Given the description of an element on the screen output the (x, y) to click on. 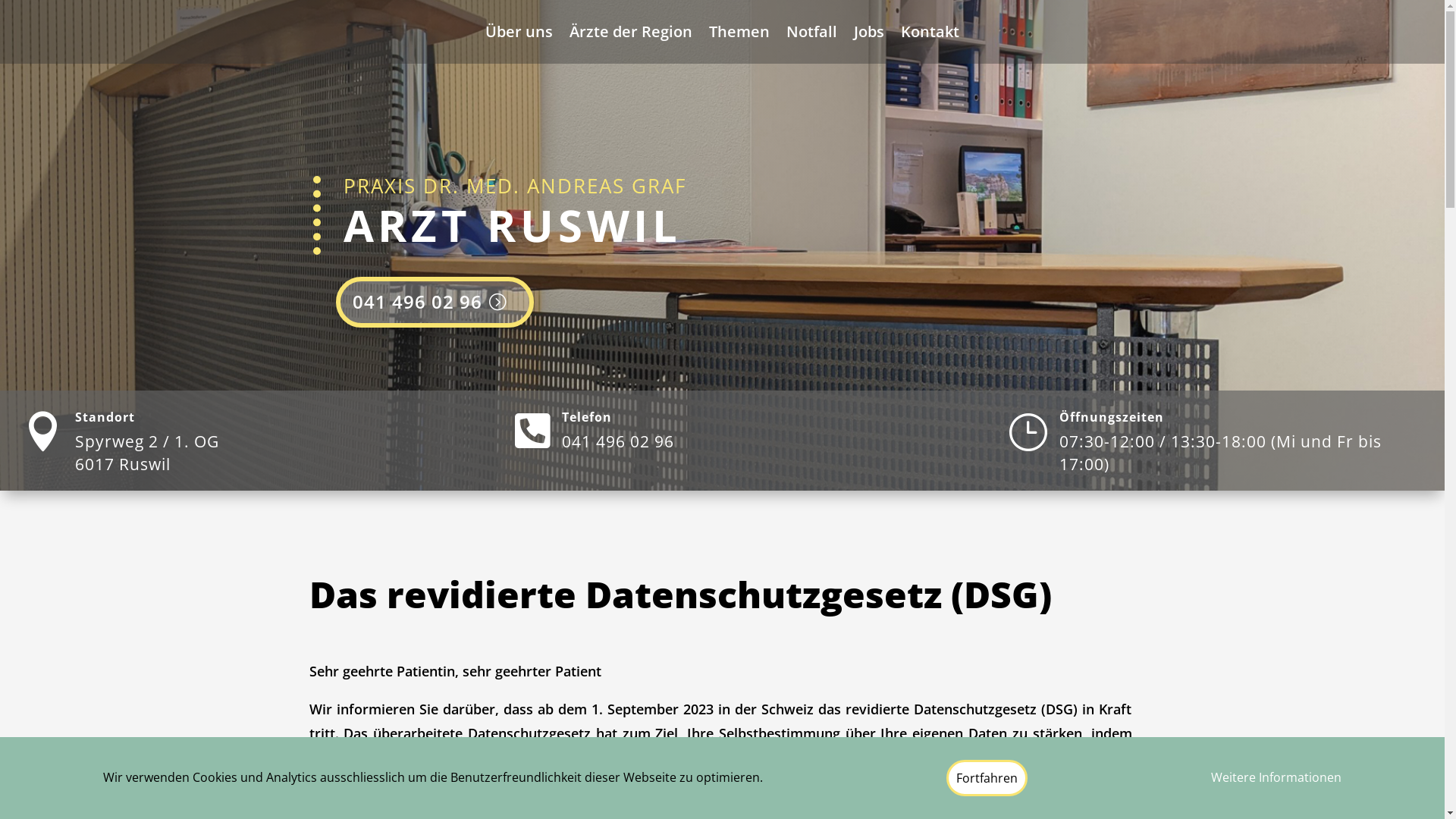
Kontakt Element type: text (929, 34)
Fortfahren Element type: text (986, 777)
Weitere Informationen Element type: text (1276, 777)
Notfall Element type: text (811, 34)
Themen Element type: text (739, 34)
041 496 02 96 Element type: text (434, 301)
Jobs Element type: text (868, 34)
